Given the description of an element on the screen output the (x, y) to click on. 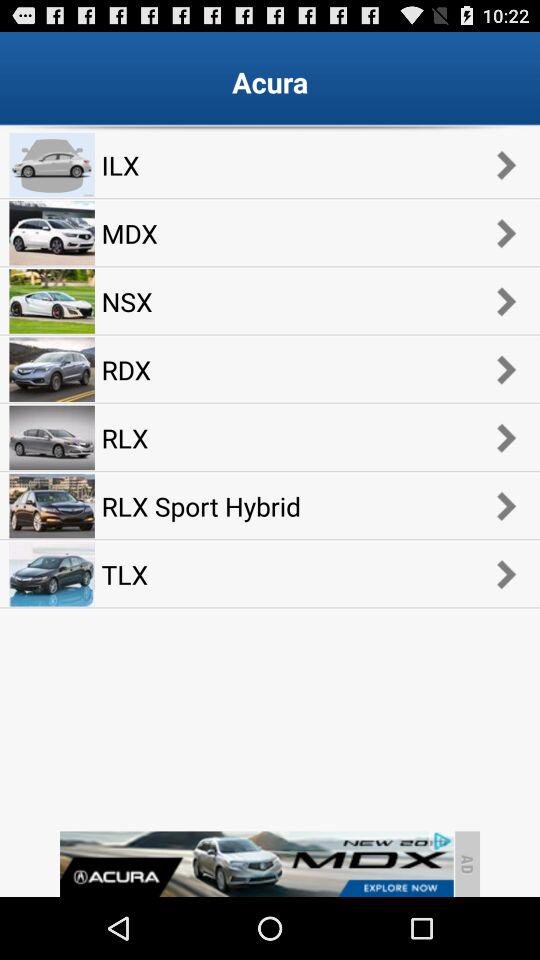
advertisement space (256, 864)
